Given the description of an element on the screen output the (x, y) to click on. 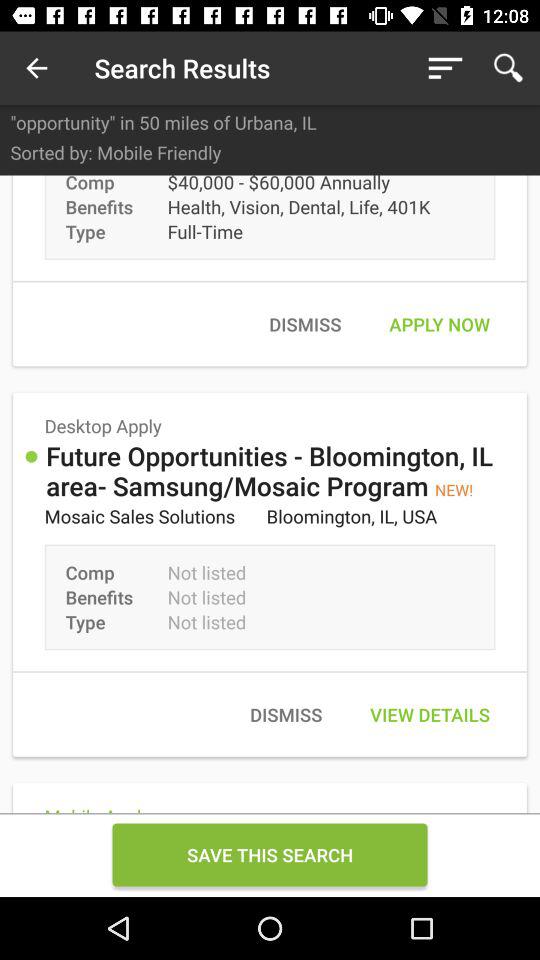
launch the save this search icon (269, 854)
